Given the description of an element on the screen output the (x, y) to click on. 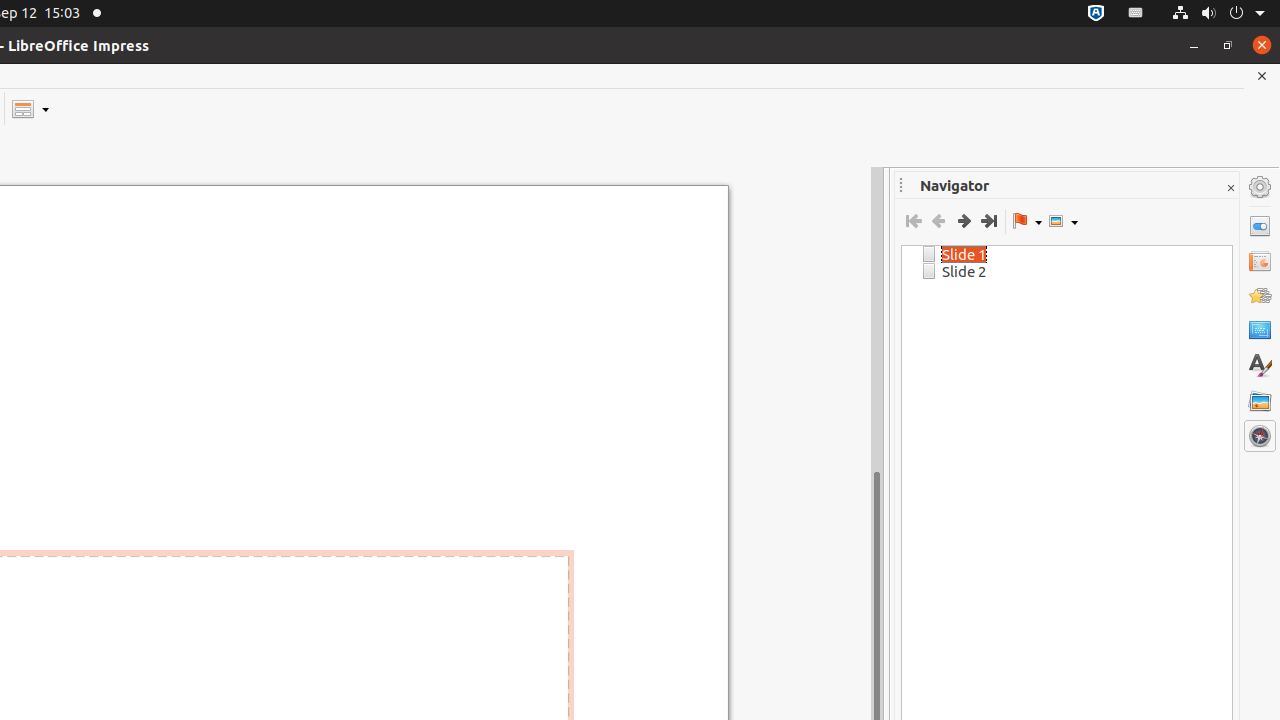
First Slide Element type: push-button (913, 221)
Slide Transition Element type: radio-button (1260, 261)
Master Slides Element type: radio-button (1260, 331)
Properties Element type: radio-button (1260, 226)
